Given the description of an element on the screen output the (x, y) to click on. 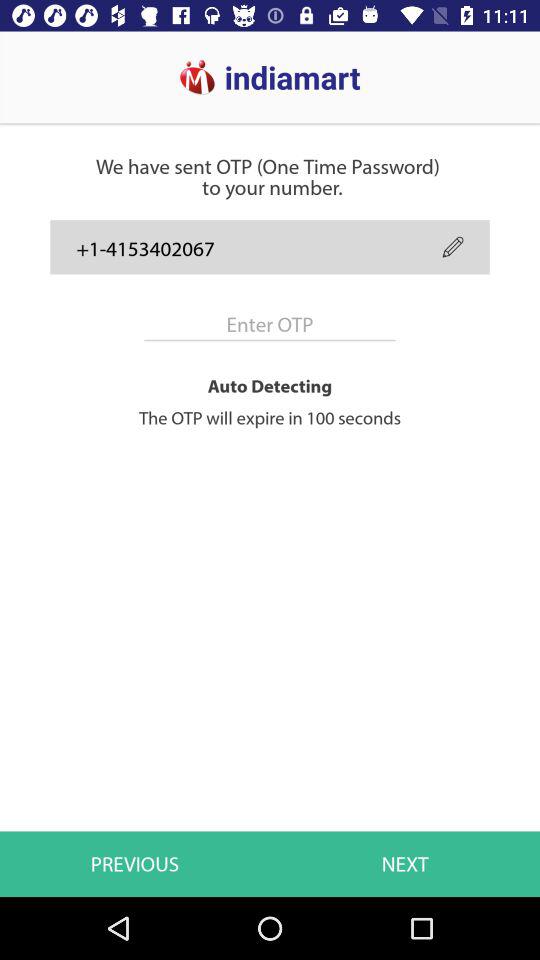
turn off icon at the bottom left corner (135, 863)
